Given the description of an element on the screen output the (x, y) to click on. 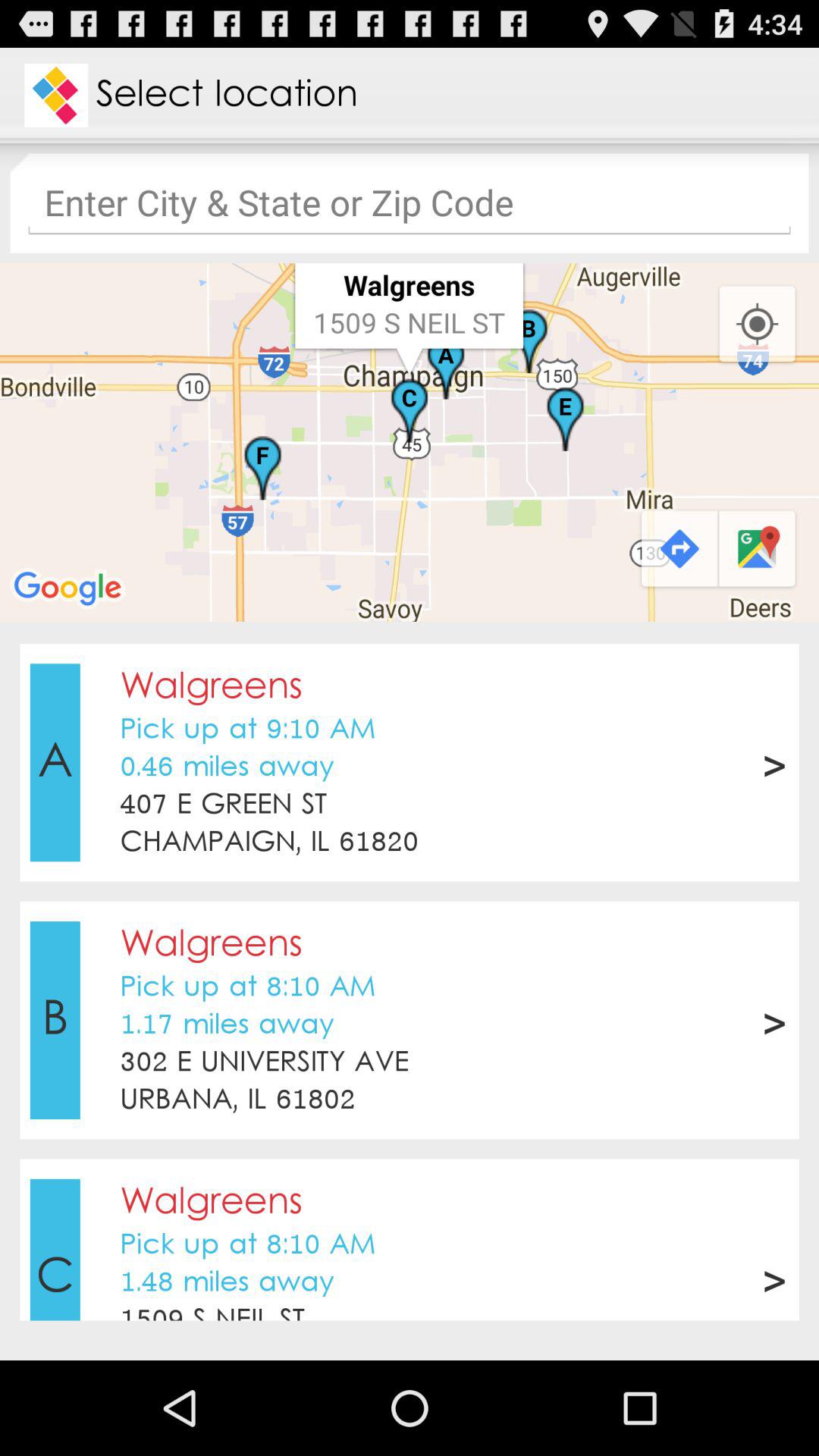
press the icon next to pick up at (54, 762)
